Given the description of an element on the screen output the (x, y) to click on. 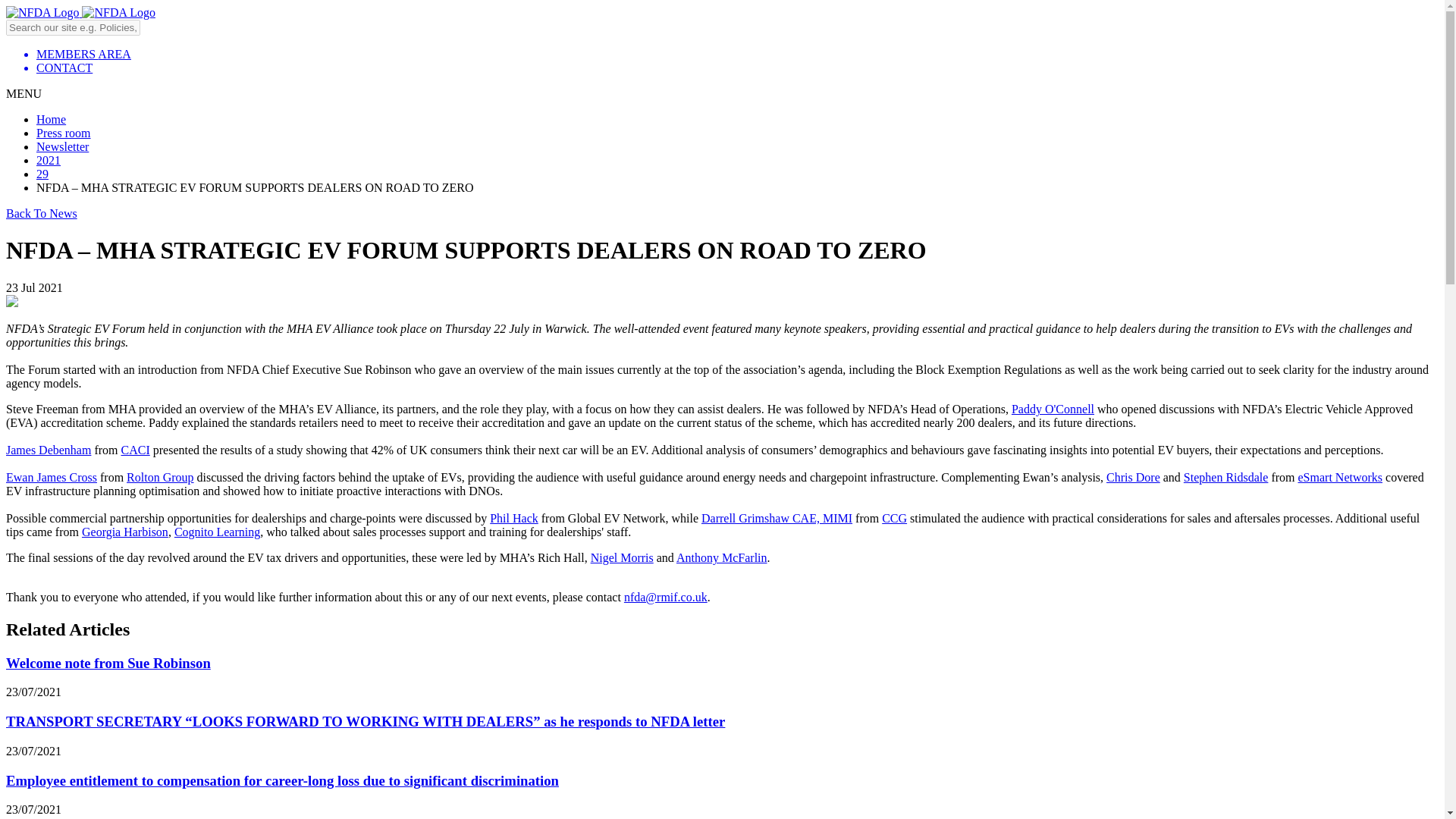
Cognito Learning (217, 531)
Ewan James Cross (51, 477)
CACI (134, 449)
Stephen Ridsdale (1225, 477)
Darrell Grimshaw CAE, MIMI (776, 517)
CCG (894, 517)
Home (50, 119)
29 (42, 173)
Nigel Morris (622, 557)
Paddy O'Connell (1052, 408)
2021 (48, 160)
Rolton Group (159, 477)
Anthony McFarlin (722, 557)
Newsletter (62, 146)
Back To News (41, 213)
